Given the description of an element on the screen output the (x, y) to click on. 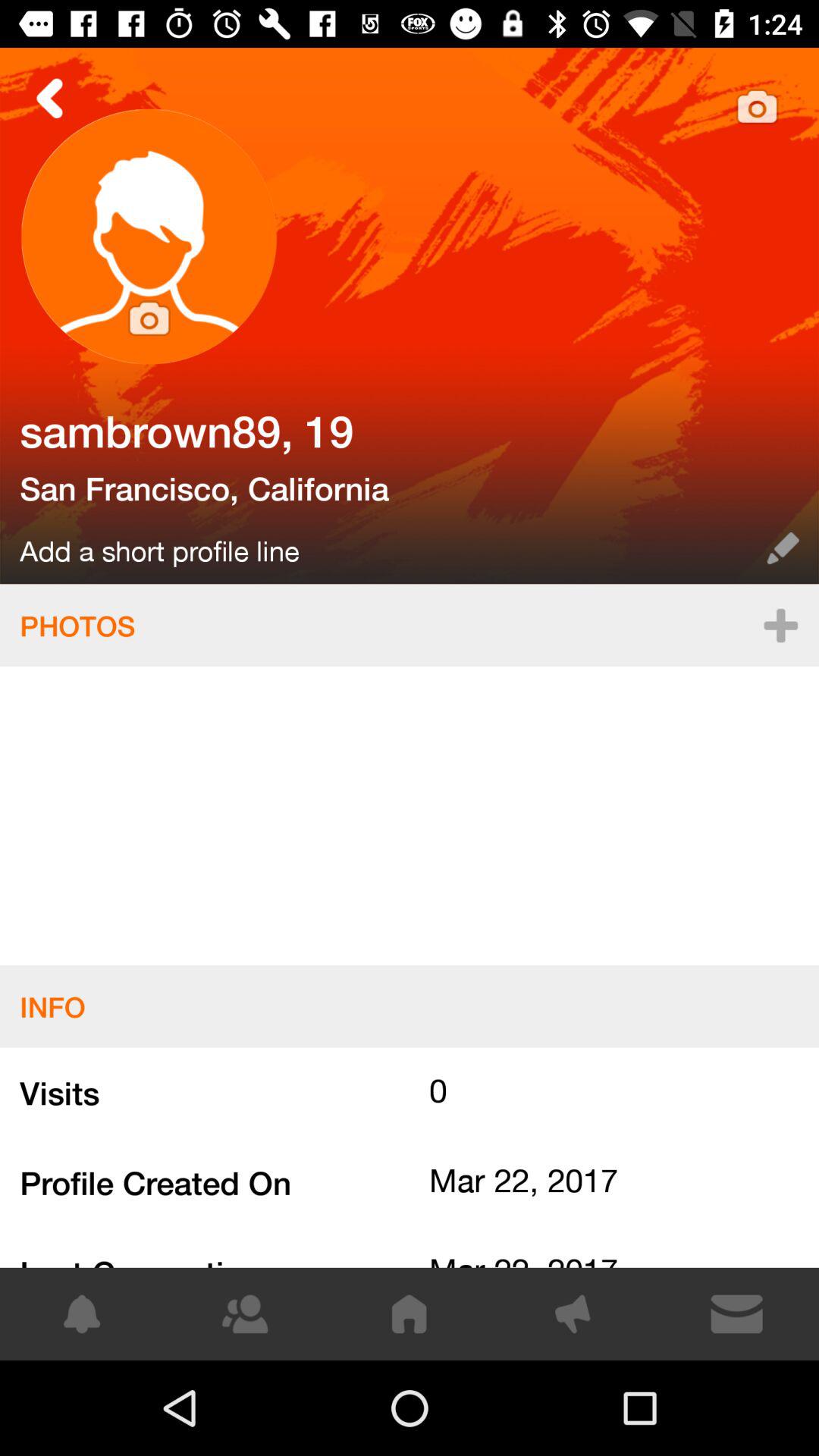
go back (50, 98)
